Given the description of an element on the screen output the (x, y) to click on. 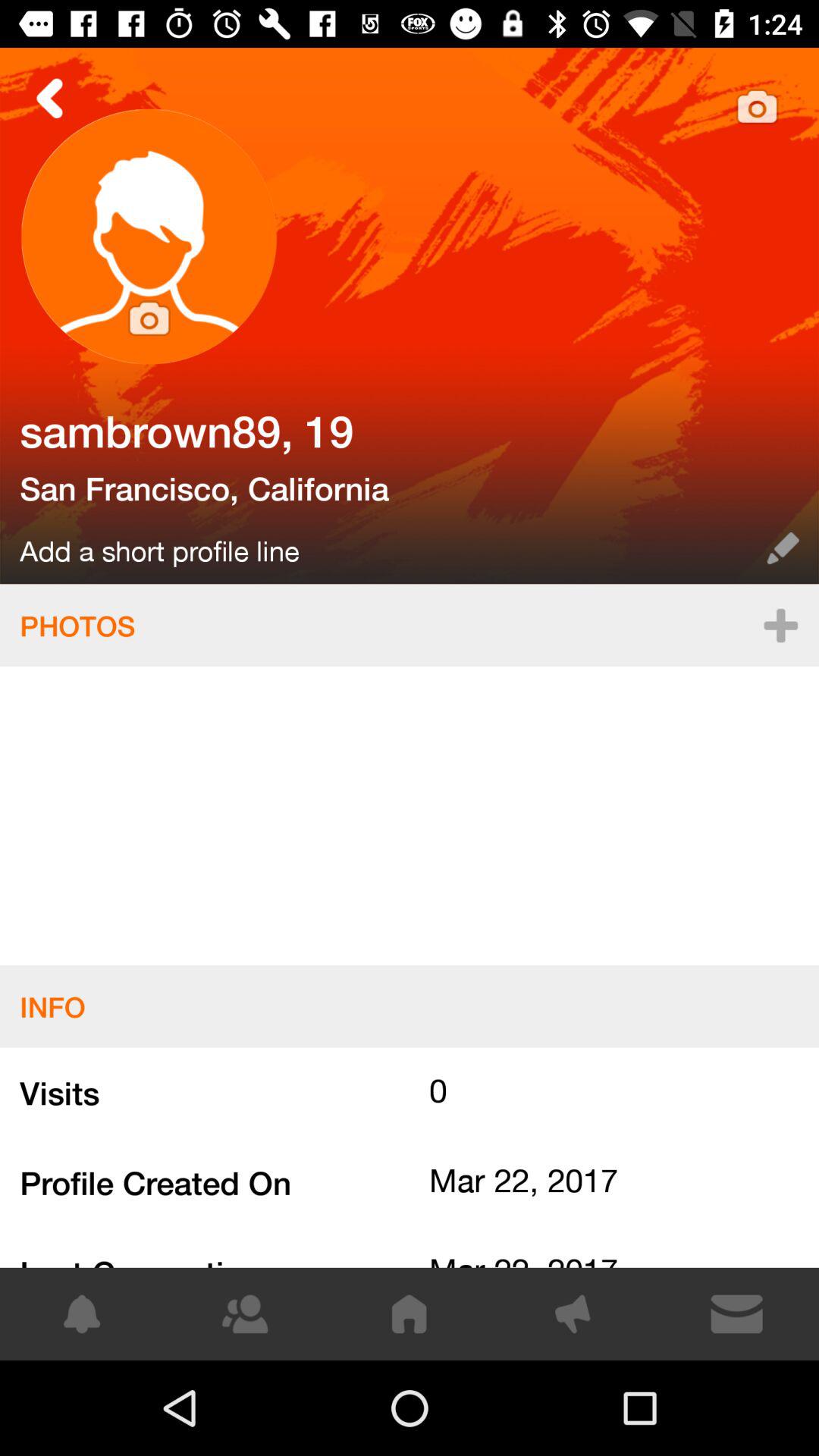
go back (50, 98)
